Given the description of an element on the screen output the (x, y) to click on. 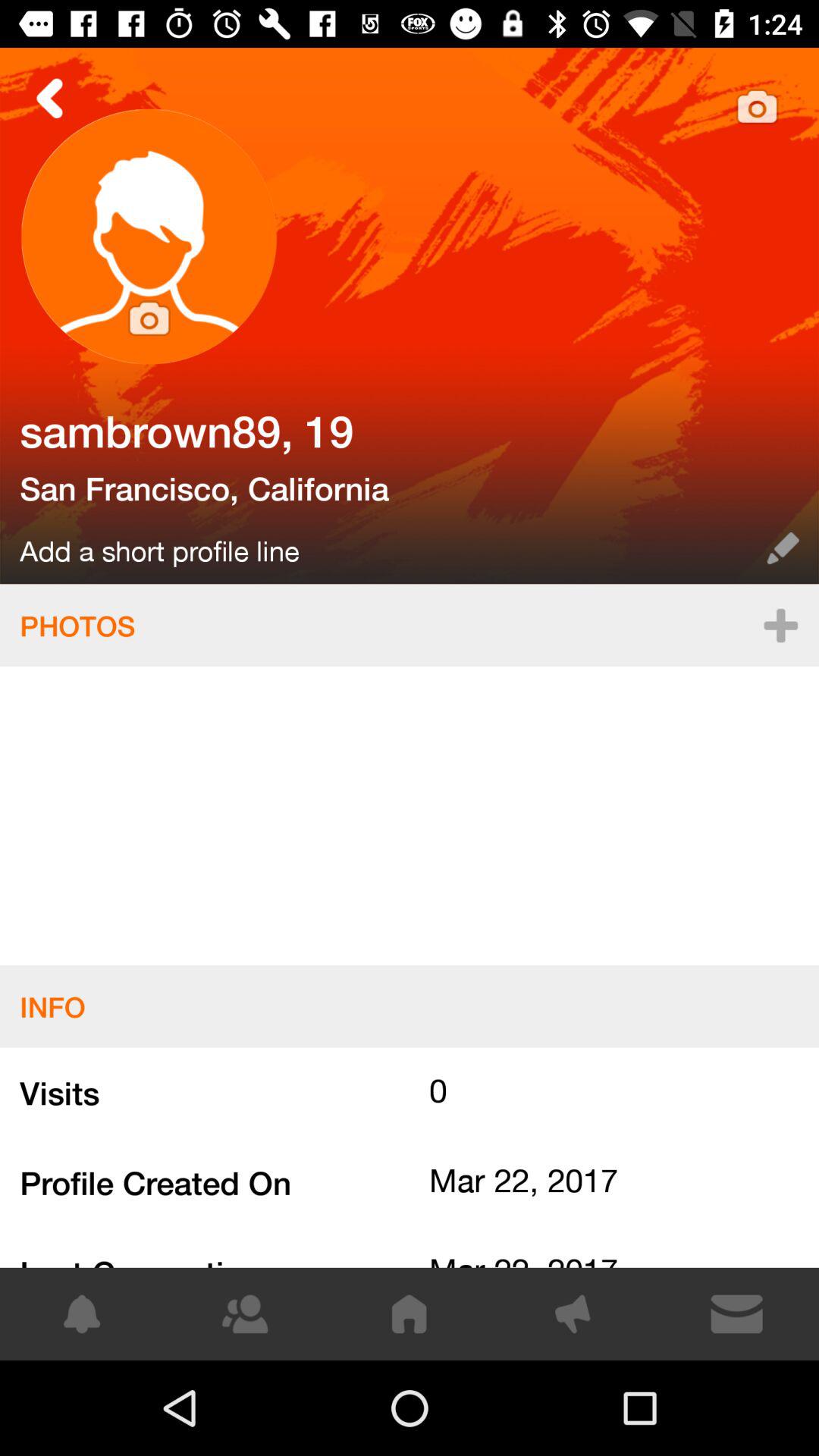
go back (50, 98)
